Given the description of an element on the screen output the (x, y) to click on. 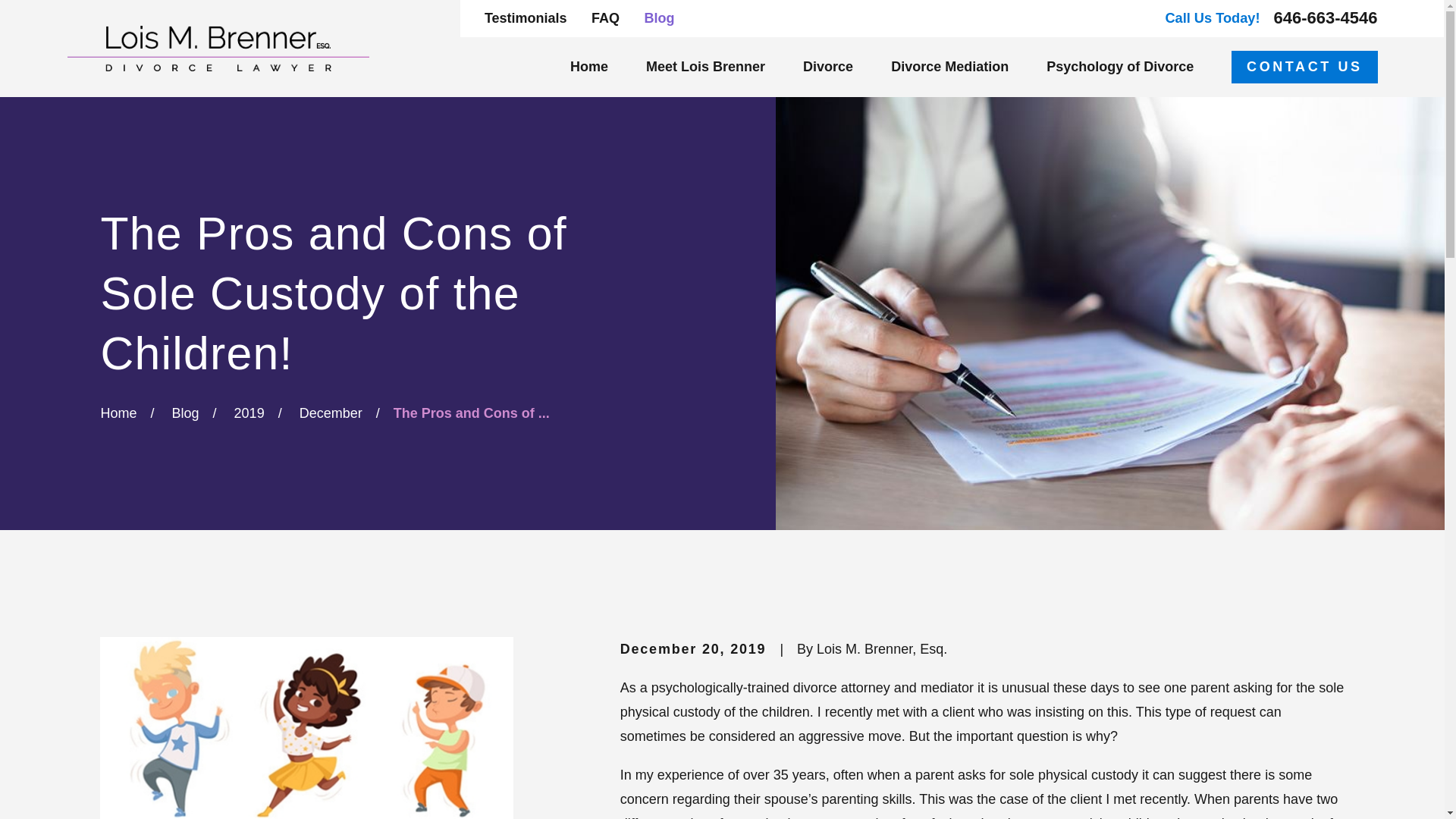
646-663-4546 (1325, 17)
Psychology of Divorce (1119, 66)
Meet Lois Brenner (705, 66)
Divorce (828, 66)
Home (589, 66)
Go Home (118, 412)
Testimonials (525, 17)
Blog (658, 17)
Divorce Mediation (950, 66)
Home (217, 48)
